Given the description of an element on the screen output the (x, y) to click on. 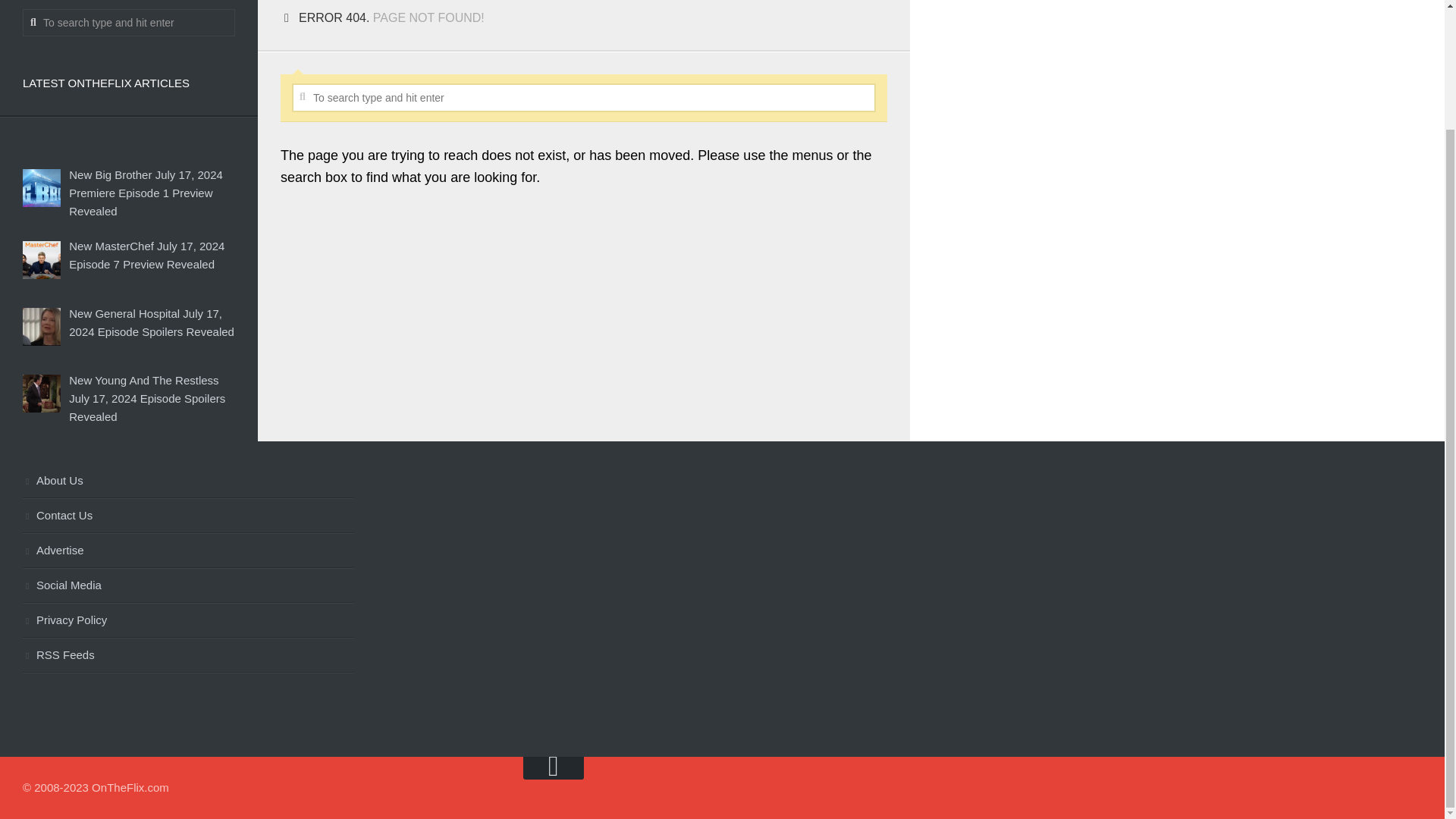
To search type and hit enter (128, 22)
To search type and hit enter (584, 97)
New MasterChef July 17, 2024 Episode 7 Preview Revealed (146, 255)
Contact Us (188, 515)
To search type and hit enter (584, 97)
Social Media (188, 585)
New General Hospital July 17, 2024 Episode Spoilers Revealed (151, 322)
Advertise (188, 550)
RSS Feeds (188, 655)
About Us (188, 481)
To search type and hit enter (128, 22)
Privacy Policy (188, 620)
